Given the description of an element on the screen output the (x, y) to click on. 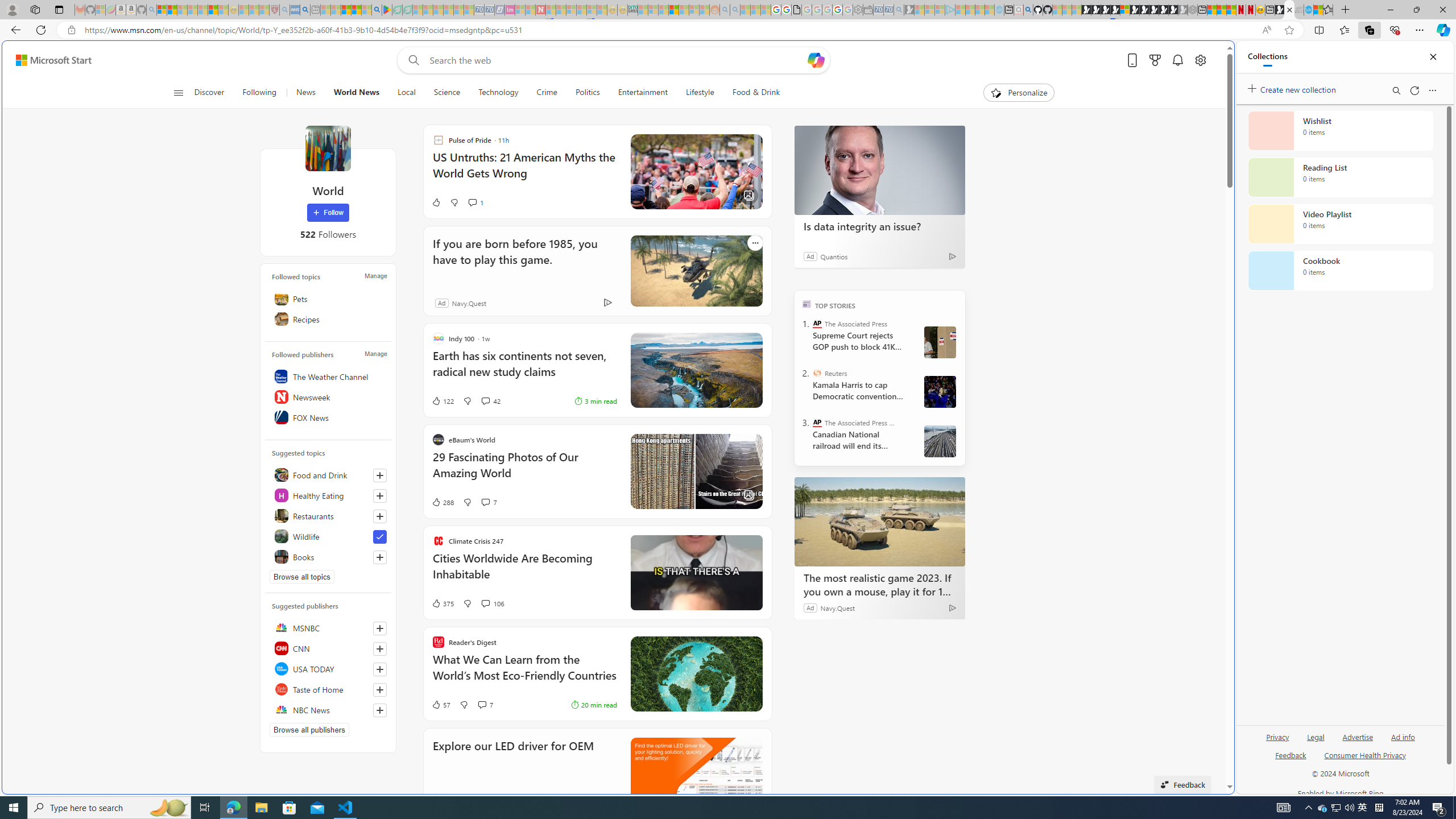
Sign in to your account (1124, 9)
The Associated Press (816, 323)
Explore our LED driver for OEMAdInventronics (596, 773)
Close split screen (1208, 57)
eBaum's World29 Fascinating Photos of Our Amazing World288 (596, 471)
Taste of Home (327, 688)
